Given the description of an element on the screen output the (x, y) to click on. 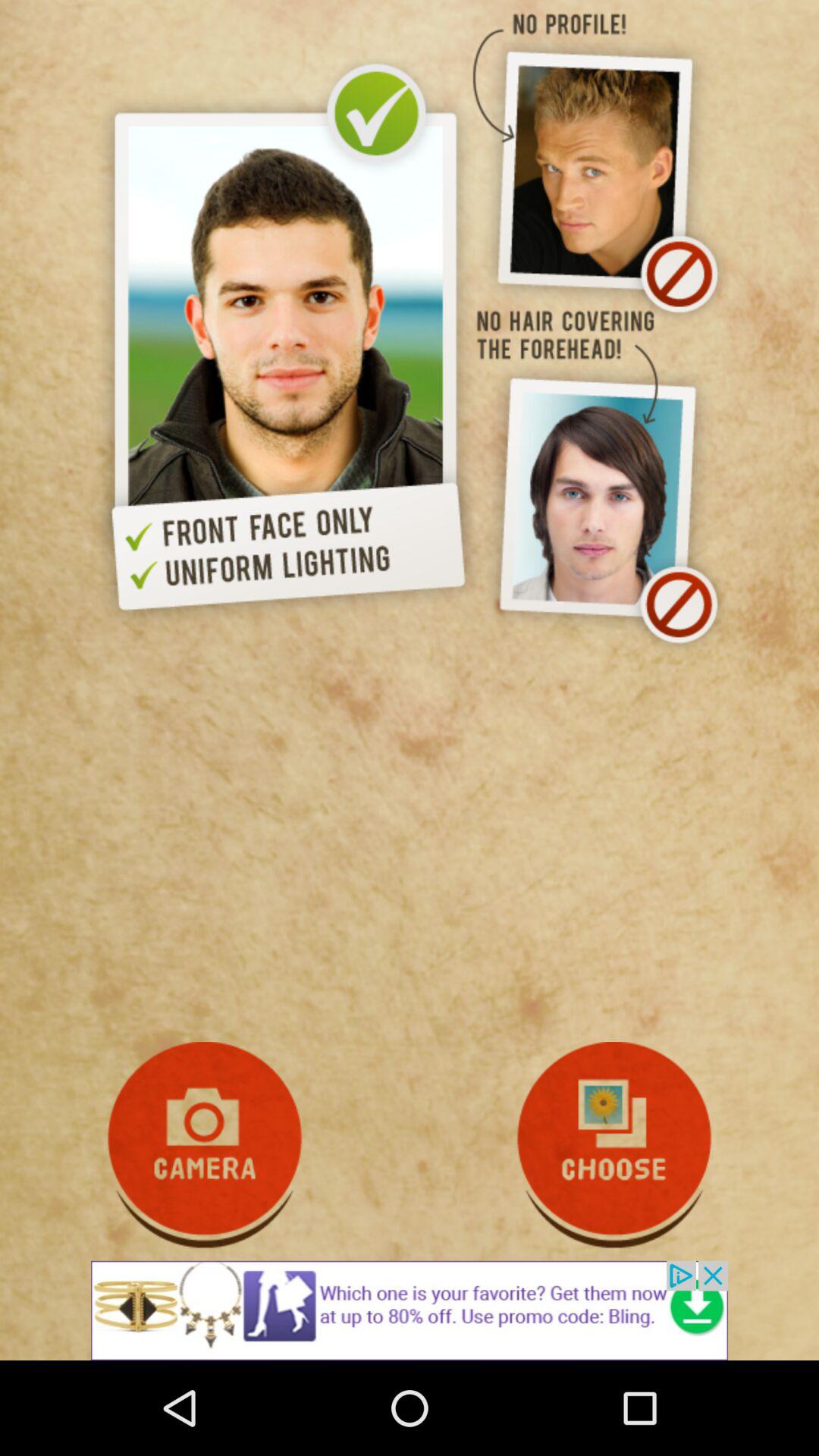
choose photo (613, 1144)
